Given the description of an element on the screen output the (x, y) to click on. 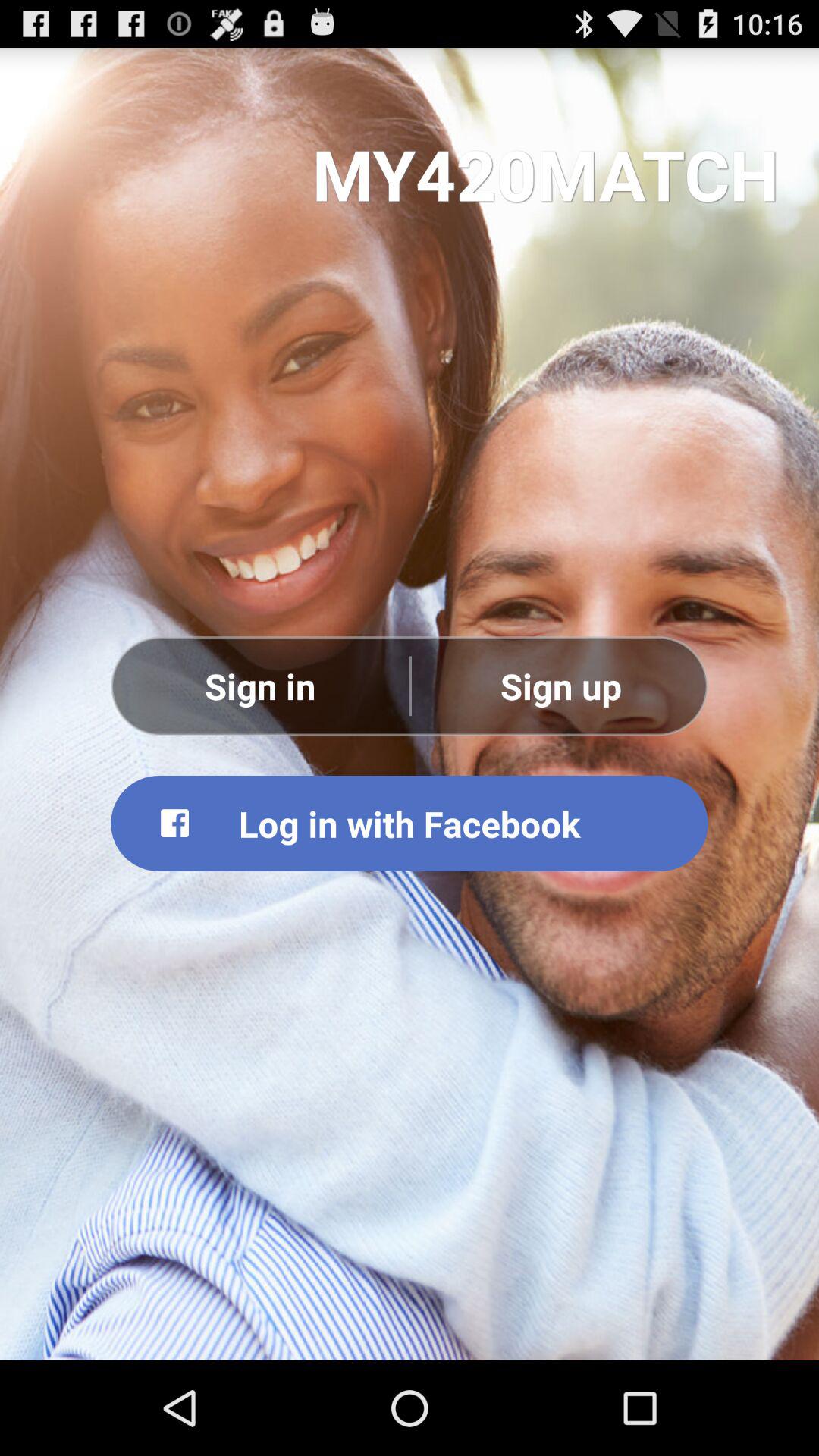
scroll until sign up item (559, 685)
